Given the description of an element on the screen output the (x, y) to click on. 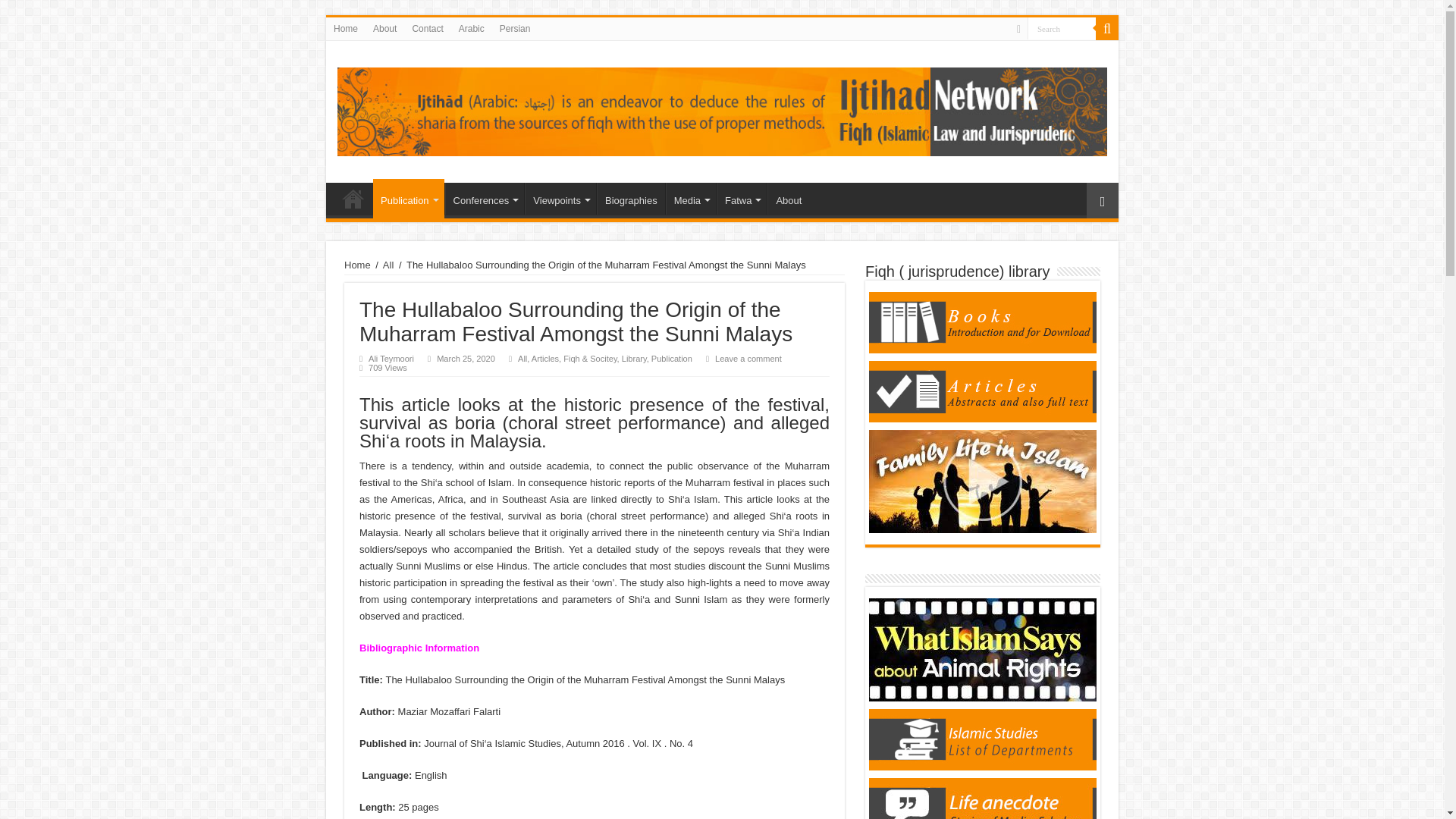
Ijtihad Network (721, 108)
Search (1061, 28)
Viewpoints (559, 198)
Publication (408, 198)
Home (345, 28)
Search (1061, 28)
Contact (426, 28)
About (384, 28)
Search (1107, 28)
Home (352, 198)
